Given the description of an element on the screen output the (x, y) to click on. 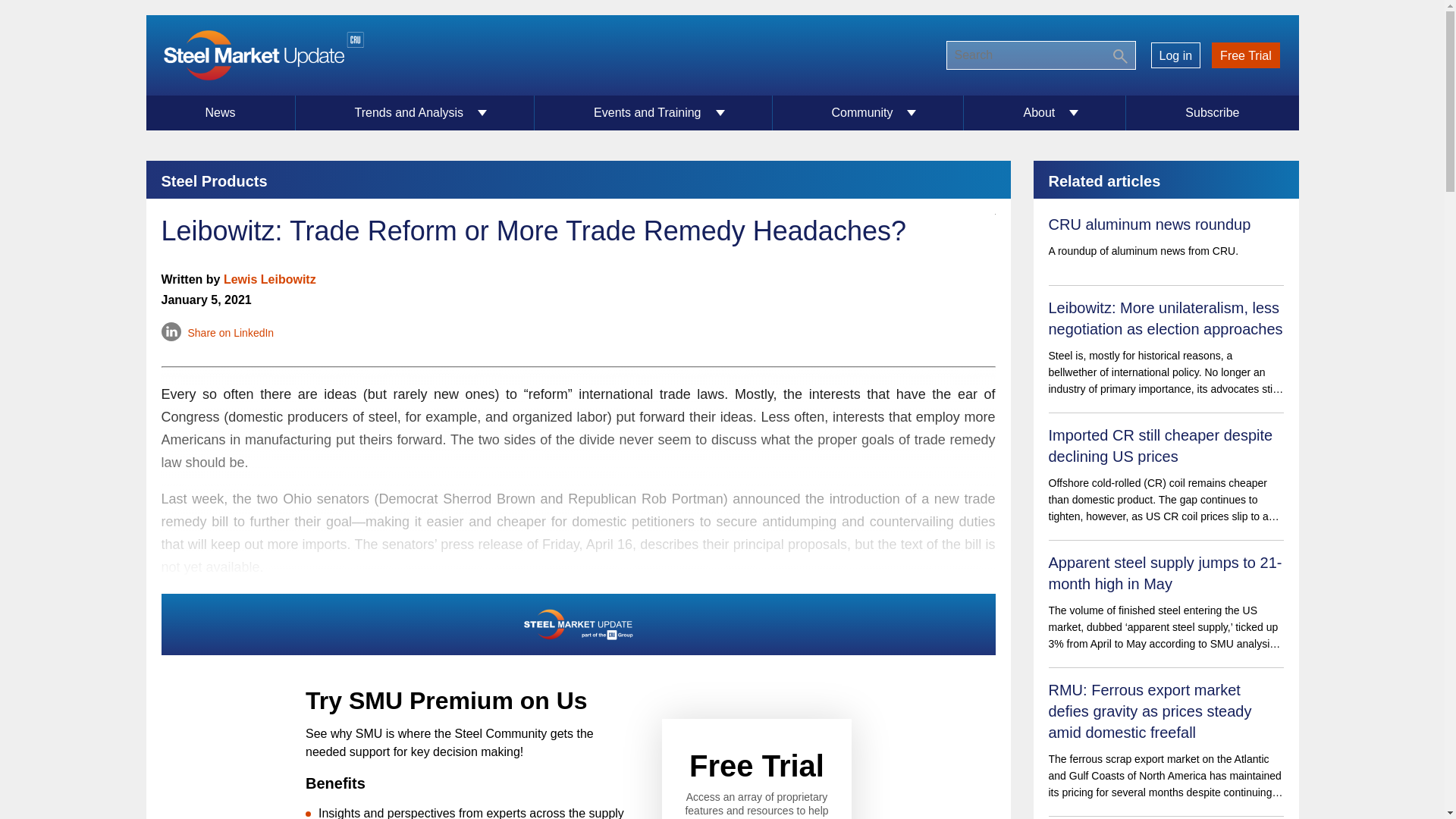
News (220, 112)
Trends and Analysis (415, 112)
Free Trial (1245, 55)
Log in (1175, 55)
Home (262, 55)
